Given the description of an element on the screen output the (x, y) to click on. 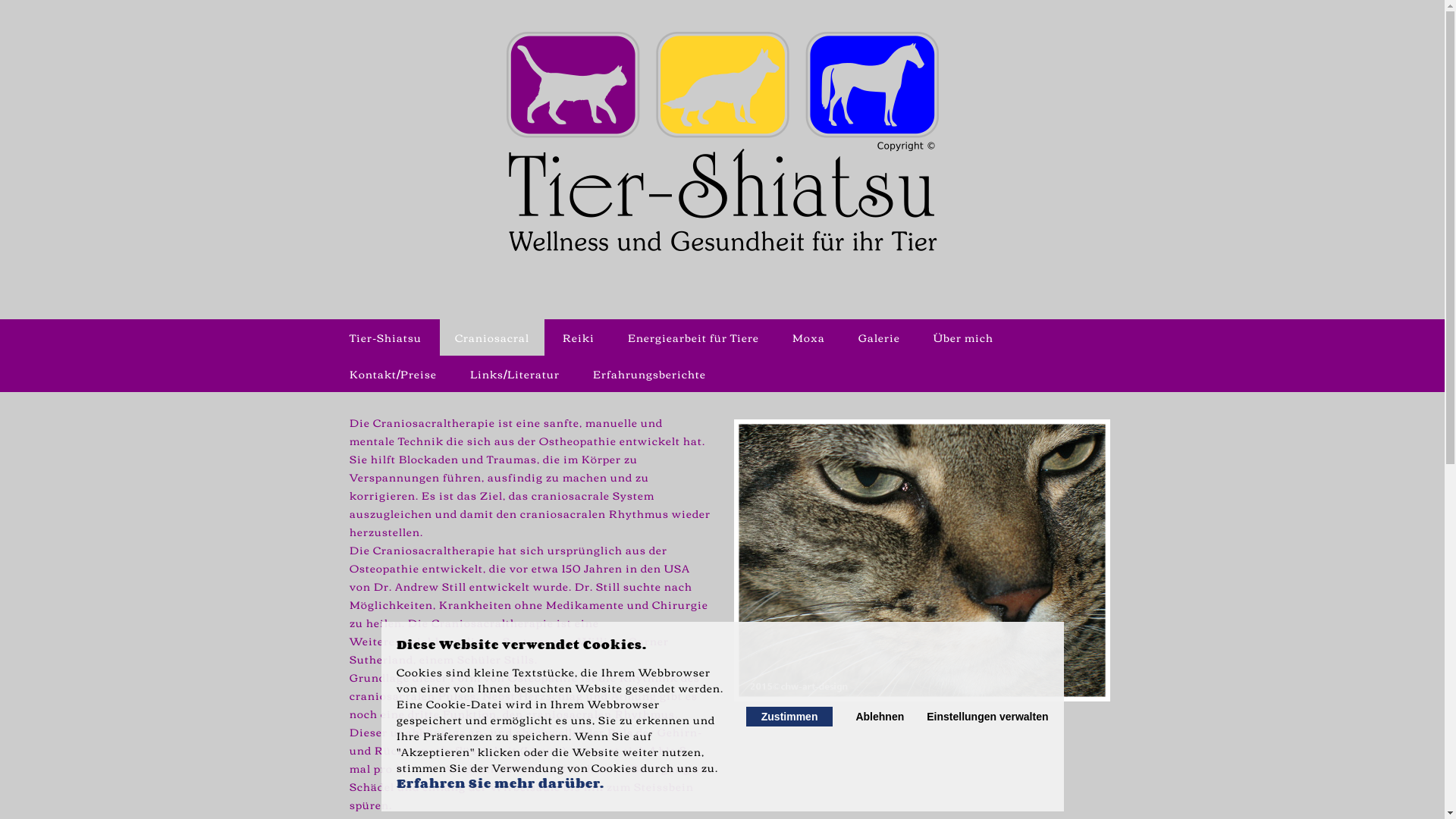
Zustimmen Element type: text (789, 716)
Links/Literatur Element type: text (514, 373)
Einstellungen verwalten Element type: text (987, 716)
Moxa Element type: text (807, 337)
Galerie Element type: text (879, 337)
Erfahrungsberichte Element type: text (649, 373)
Tier-Shiatsu Element type: text (384, 337)
Ablehnen Element type: text (879, 716)
Craniosacral Element type: text (491, 337)
Kontakt/Preise Element type: text (392, 373)
Reiki Element type: text (578, 337)
